Given the description of an element on the screen output the (x, y) to click on. 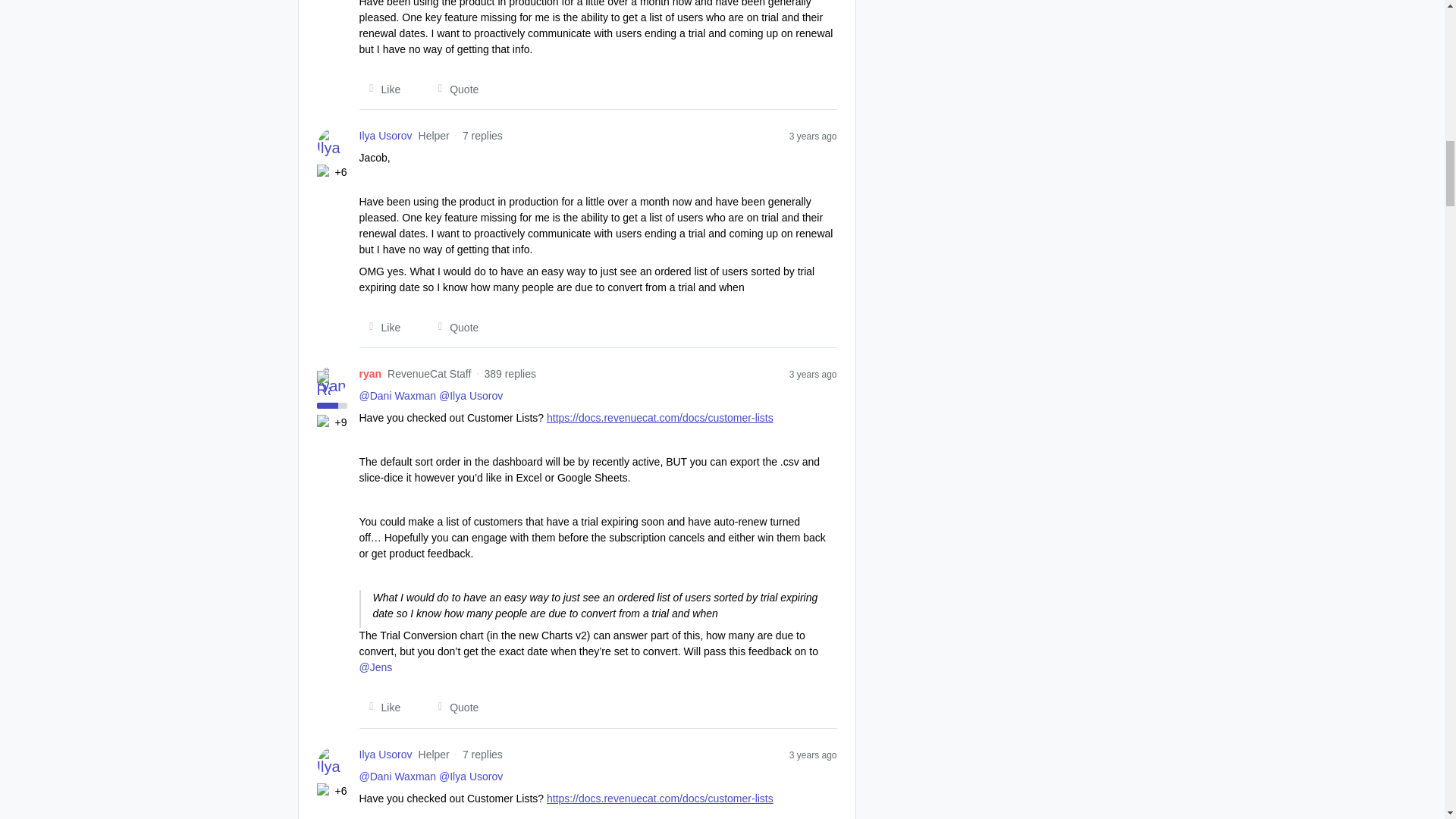
Top Banana (324, 421)
3 years ago (813, 373)
Ilya Usorov (385, 754)
ryan (370, 374)
3 years ago (813, 135)
Quote (453, 89)
Strength In Numbers (324, 171)
Like (380, 327)
Like (380, 89)
ryan (370, 374)
